Given the description of an element on the screen output the (x, y) to click on. 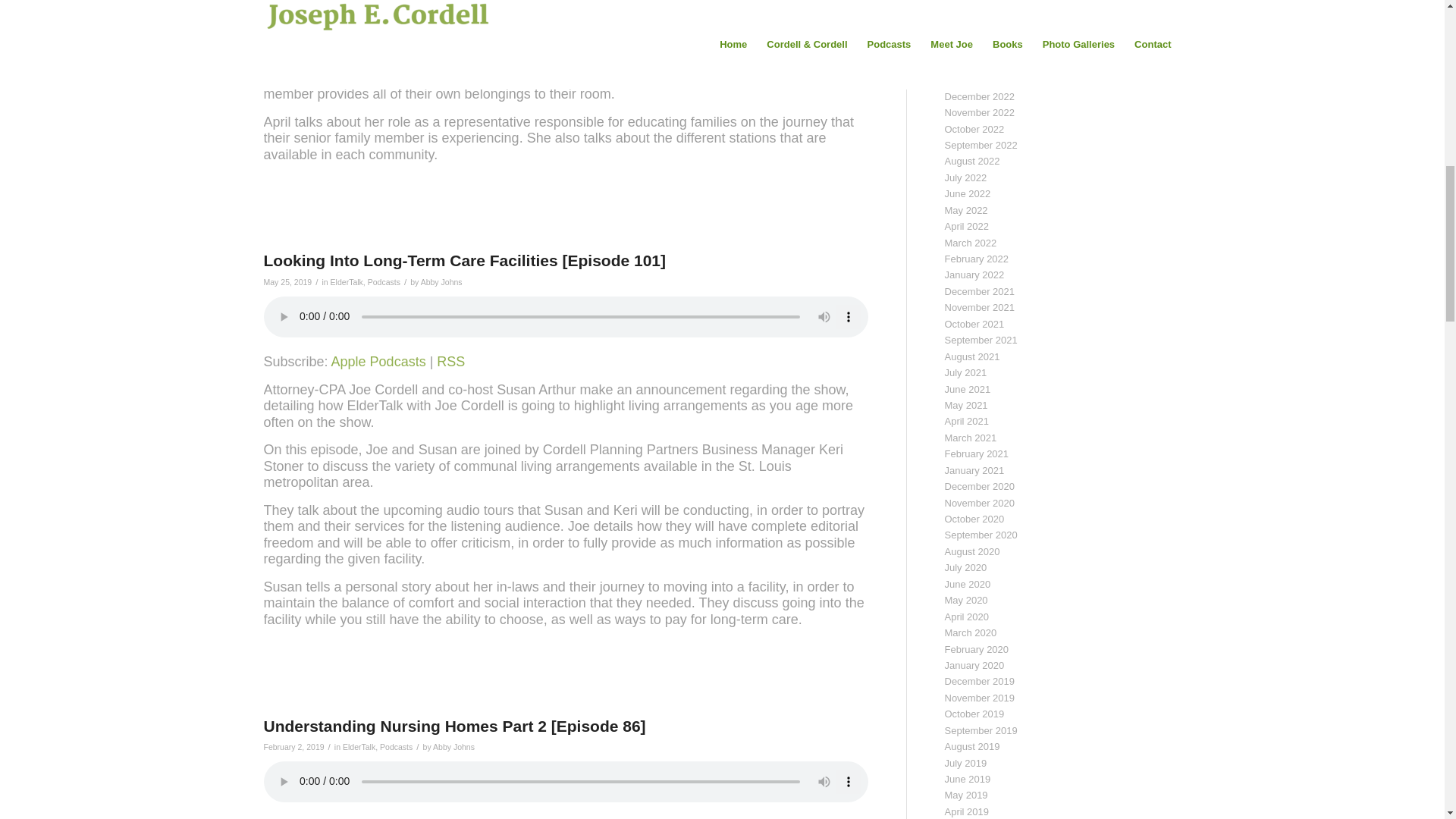
ElderTalk (346, 281)
Apple Podcasts (378, 361)
Podcasts (384, 281)
Subscribe via RSS (450, 361)
RSS (450, 361)
ElderTalk (358, 746)
Subscribe on Apple Podcasts (378, 361)
Abby Johns (441, 281)
Posts by Abby Johns (453, 746)
Podcasts (396, 746)
